Given the description of an element on the screen output the (x, y) to click on. 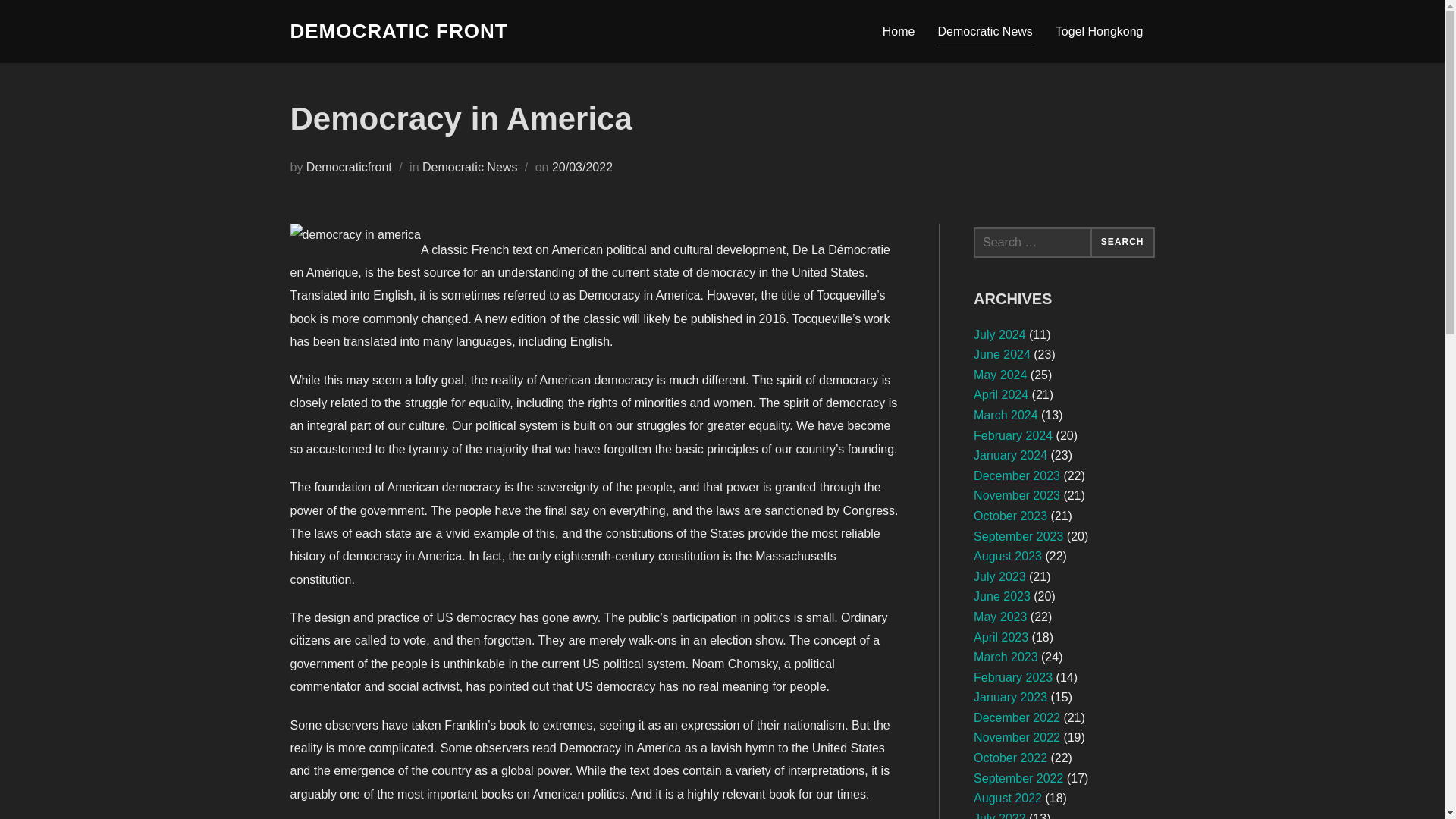
June 2024 (1002, 354)
Democratic News Around The World (397, 31)
May 2023 (1000, 616)
October 2023 (1010, 515)
Togel Hongkong (1098, 30)
February 2024 (1013, 435)
September 2023 (1018, 535)
May 2024 (1000, 374)
DEMOCRATIC FRONT (397, 31)
Home (898, 30)
January 2024 (1010, 454)
June 2023 (1002, 595)
December 2022 (1016, 717)
August 2022 (1008, 797)
March 2024 (1006, 414)
